Given the description of an element on the screen output the (x, y) to click on. 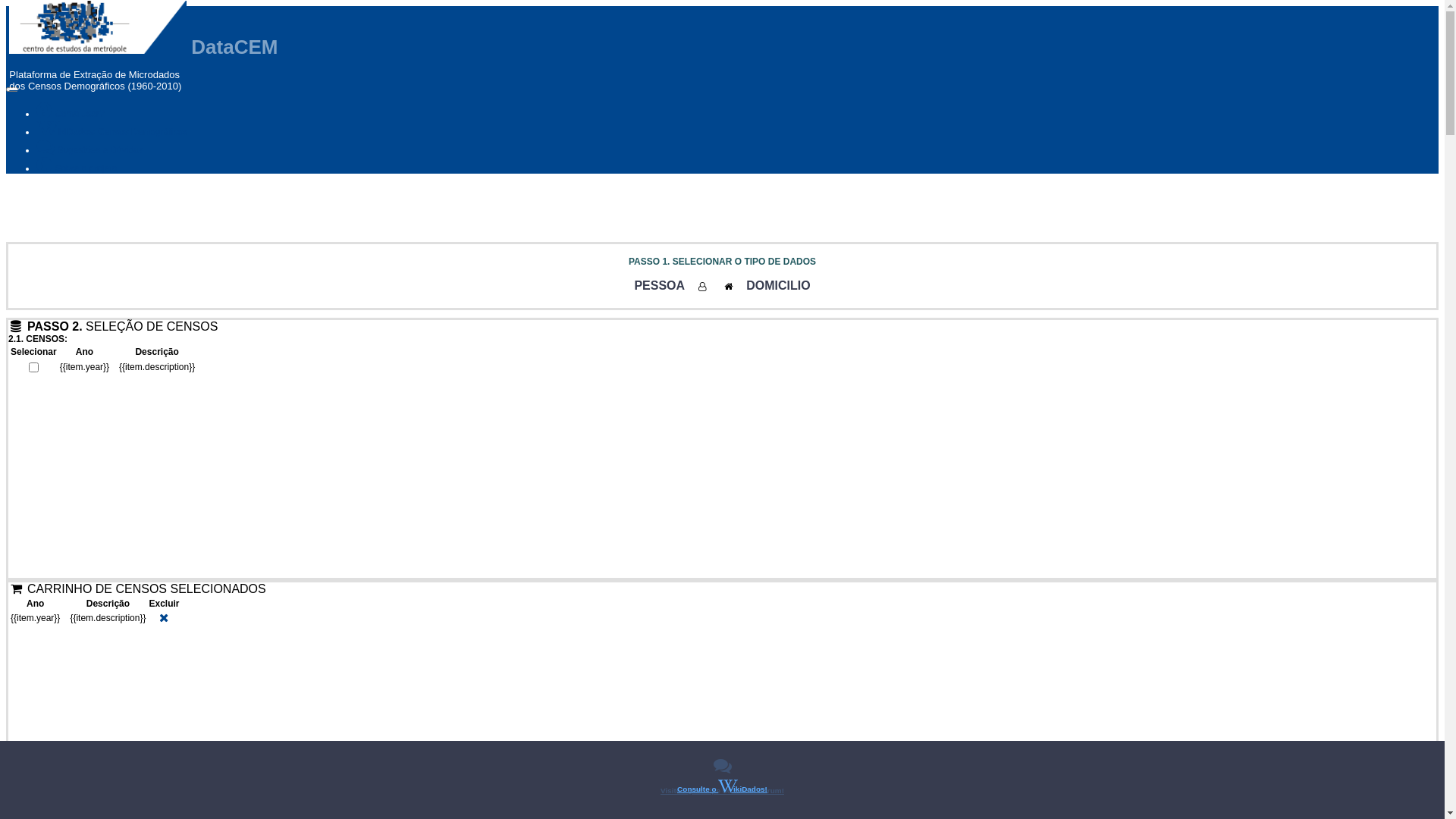
Gerar arquivo Element type: text (37, 7)
Sobre o projeto Element type: text (76, 168)
Pessoa Element type: hover (703, 286)
Consulte o ikiDados! Element type: text (722, 786)
Como usar? Element type: text (70, 113)
